Given the description of an element on the screen output the (x, y) to click on. 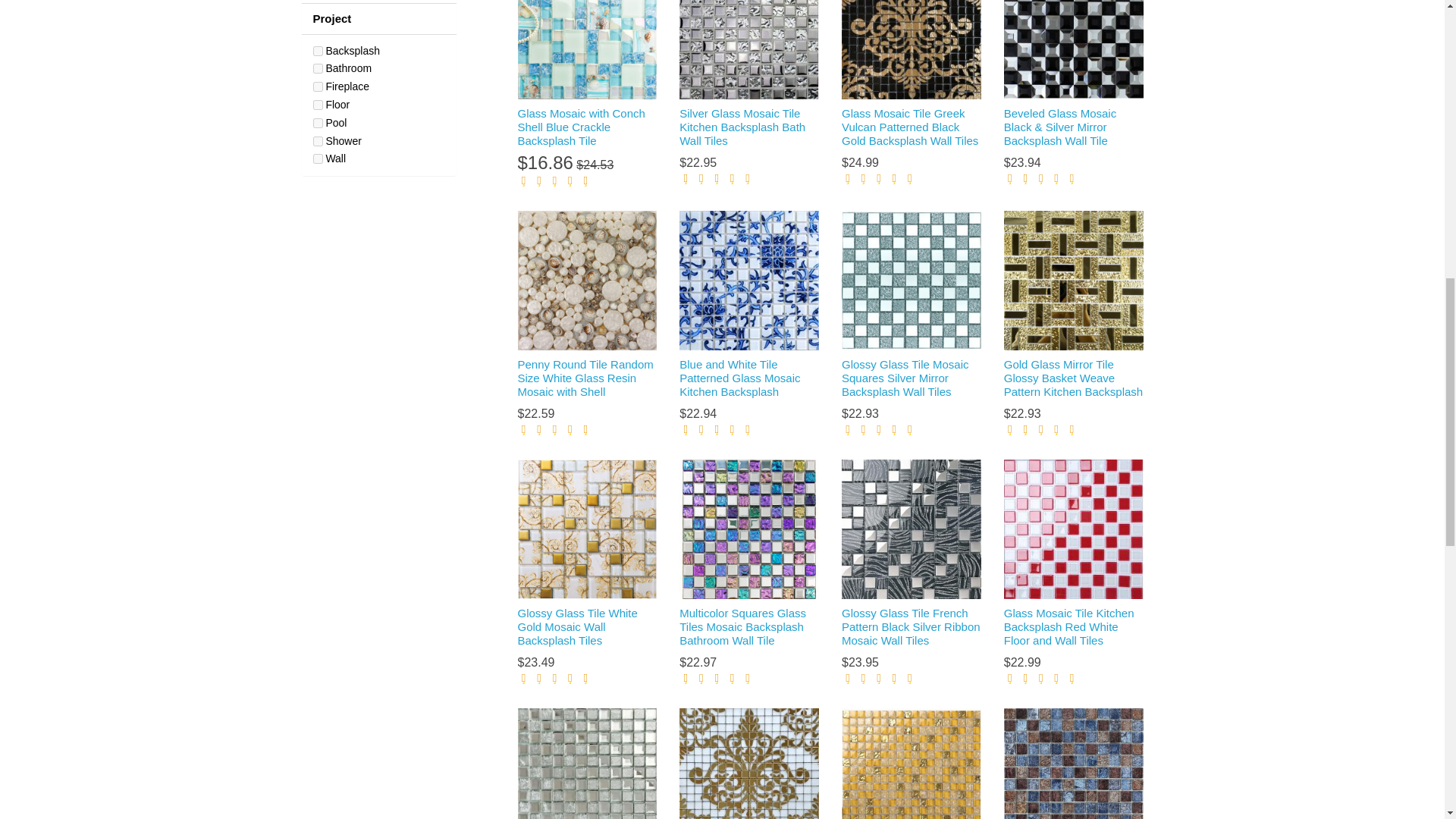
Silver Glass Mosaic Tile Kitchen Backsplash Bath Wall Tiles (748, 49)
Glossy Glass Tile White Gold Mosaic Wall Backsplash Tiles (586, 528)
Glass Mosaic with Conch Shell Blue Crackle Backsplash Tile (586, 49)
